Given the description of an element on the screen output the (x, y) to click on. 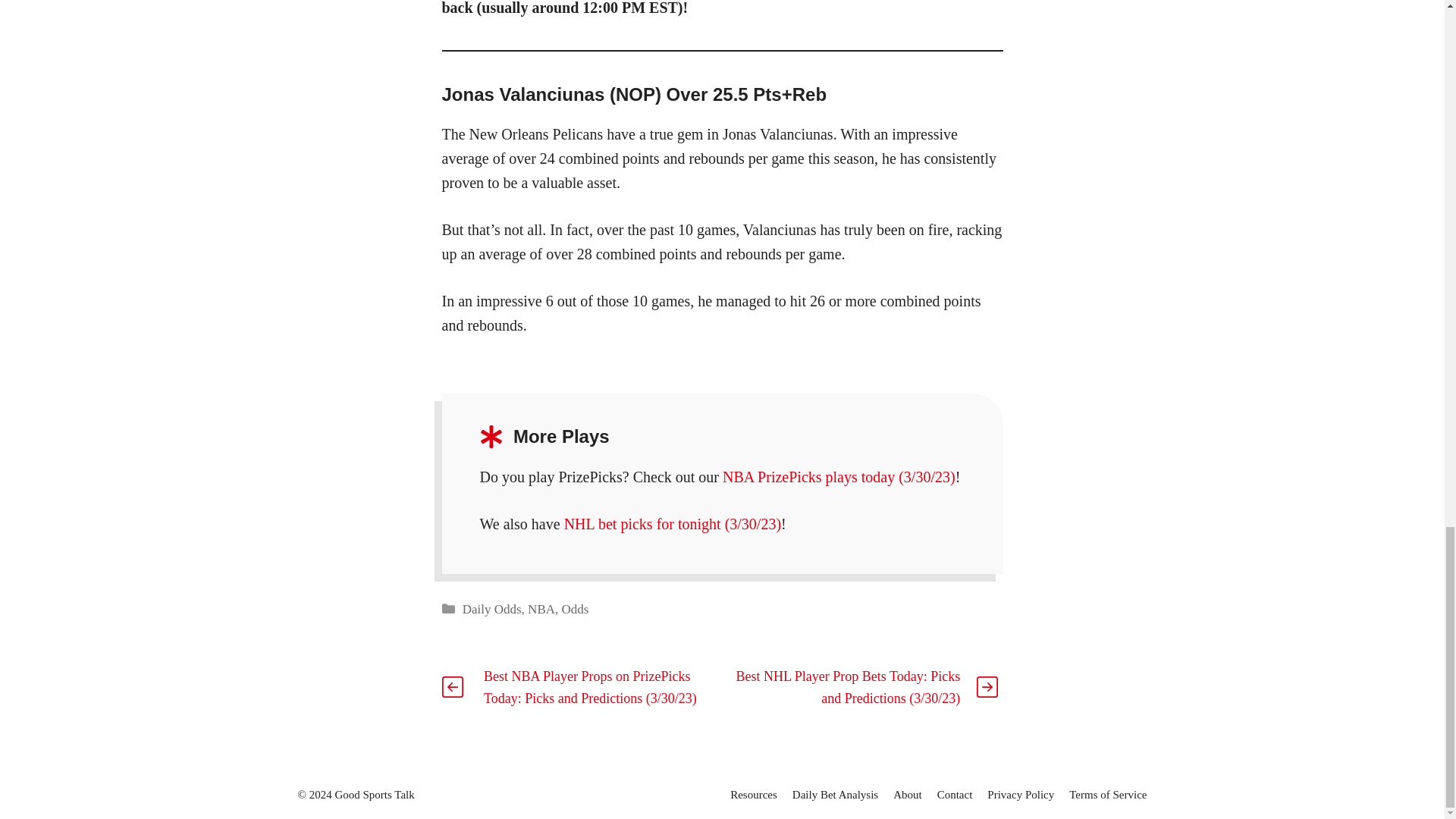
Odds (575, 608)
Terms of Service (1107, 794)
Privacy Policy (1020, 794)
Contact (954, 794)
Daily Odds (492, 608)
Daily Bet Analysis (834, 794)
NBA (540, 608)
Resources (753, 794)
About (907, 794)
